Given the description of an element on the screen output the (x, y) to click on. 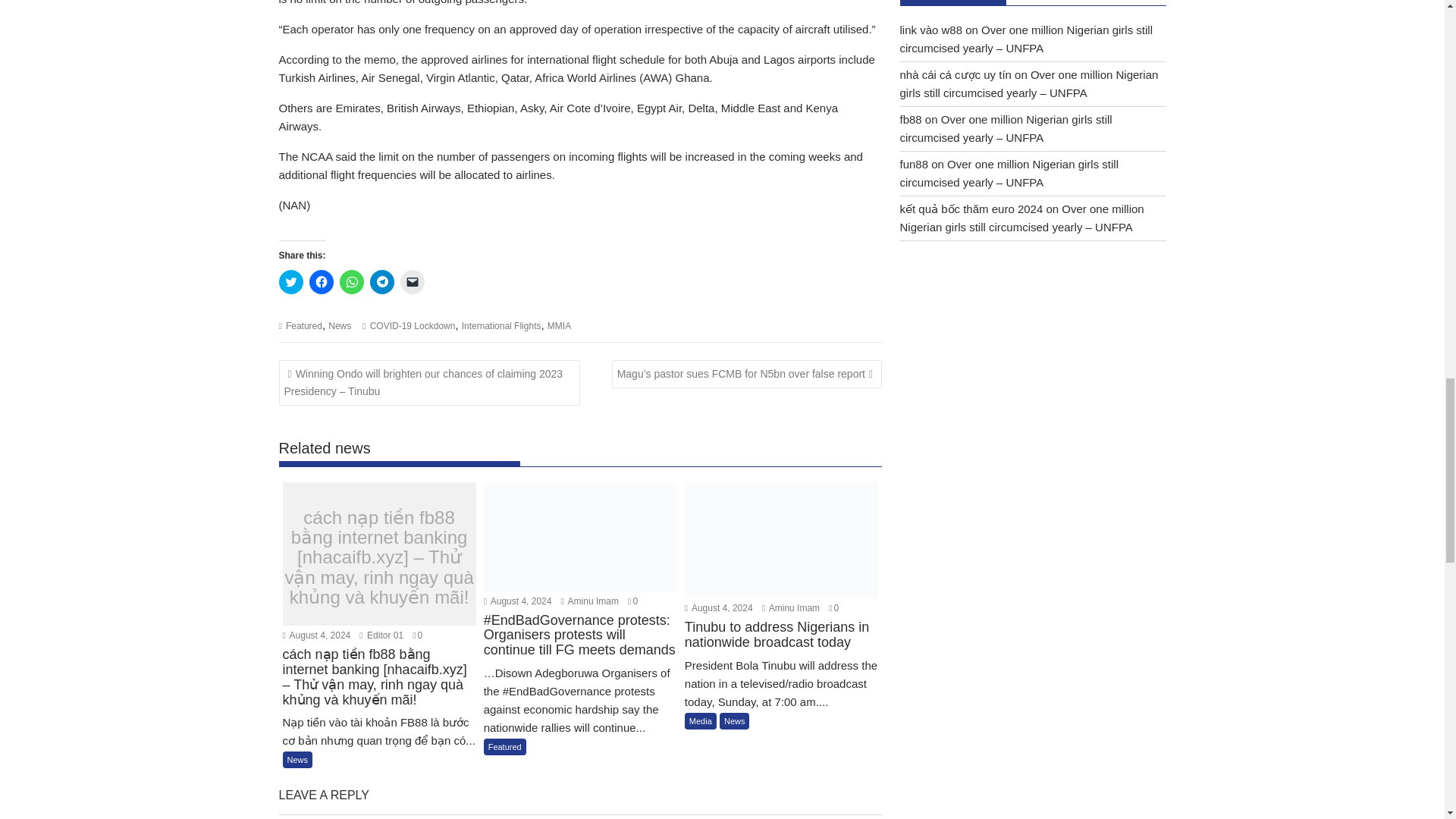
News (339, 326)
Click to share on WhatsApp (351, 282)
Click to share on Facebook (320, 282)
Click to email a link to a friend (412, 282)
Editor 01 (381, 634)
MMIA (558, 326)
Aminu Imam (589, 601)
International Flights (501, 326)
Click to share on Telegram (381, 282)
Aminu Imam (790, 607)
August 4, 2024 (316, 634)
COVID-19 Lockdown (412, 326)
Editor 01 (381, 634)
Click to share on Twitter (290, 282)
Featured (303, 326)
